Given the description of an element on the screen output the (x, y) to click on. 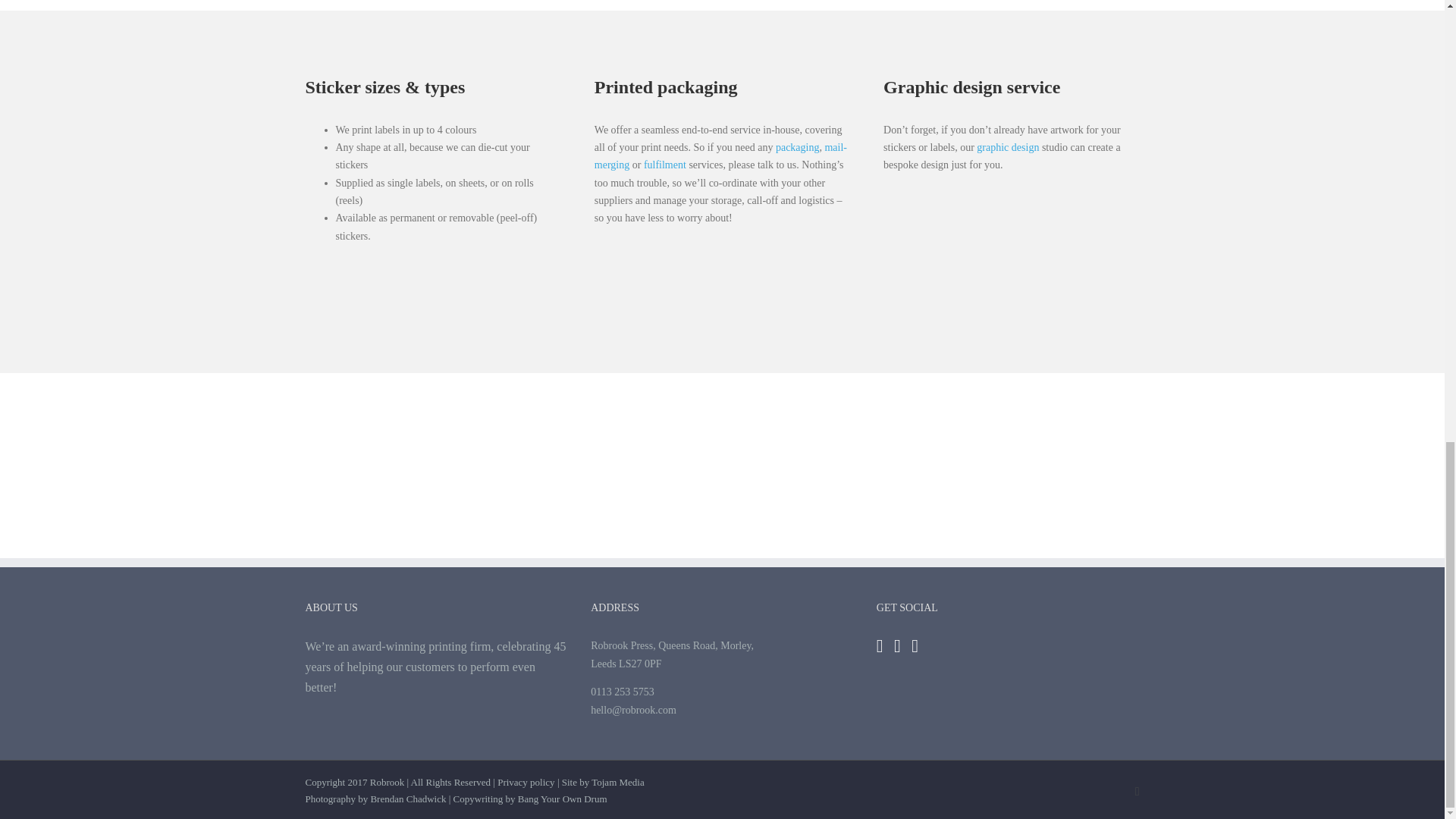
fulfilment (664, 164)
mail-merging (720, 155)
packaging (797, 147)
